Given the description of an element on the screen output the (x, y) to click on. 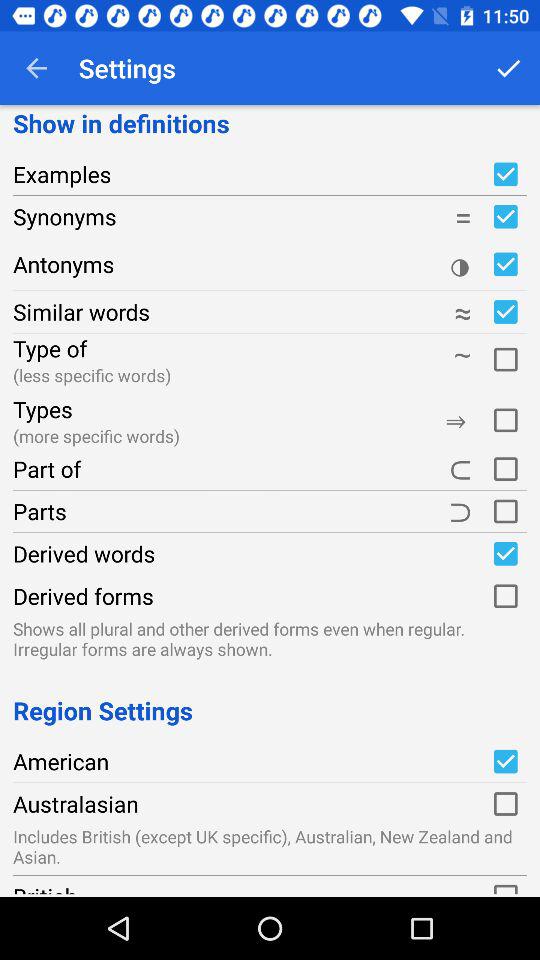
show examples (505, 174)
